Given the description of an element on the screen output the (x, y) to click on. 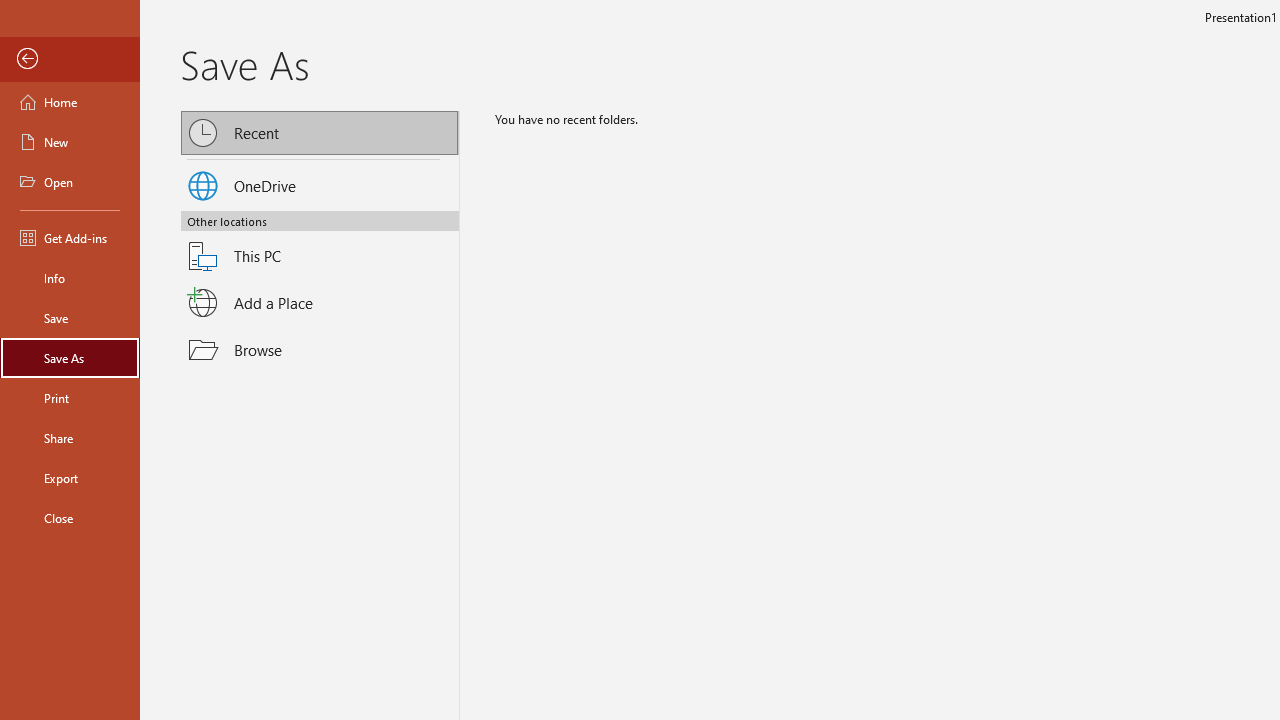
Get Add-ins (69, 237)
Print (69, 398)
Back (69, 59)
This PC (319, 243)
